Given the description of an element on the screen output the (x, y) to click on. 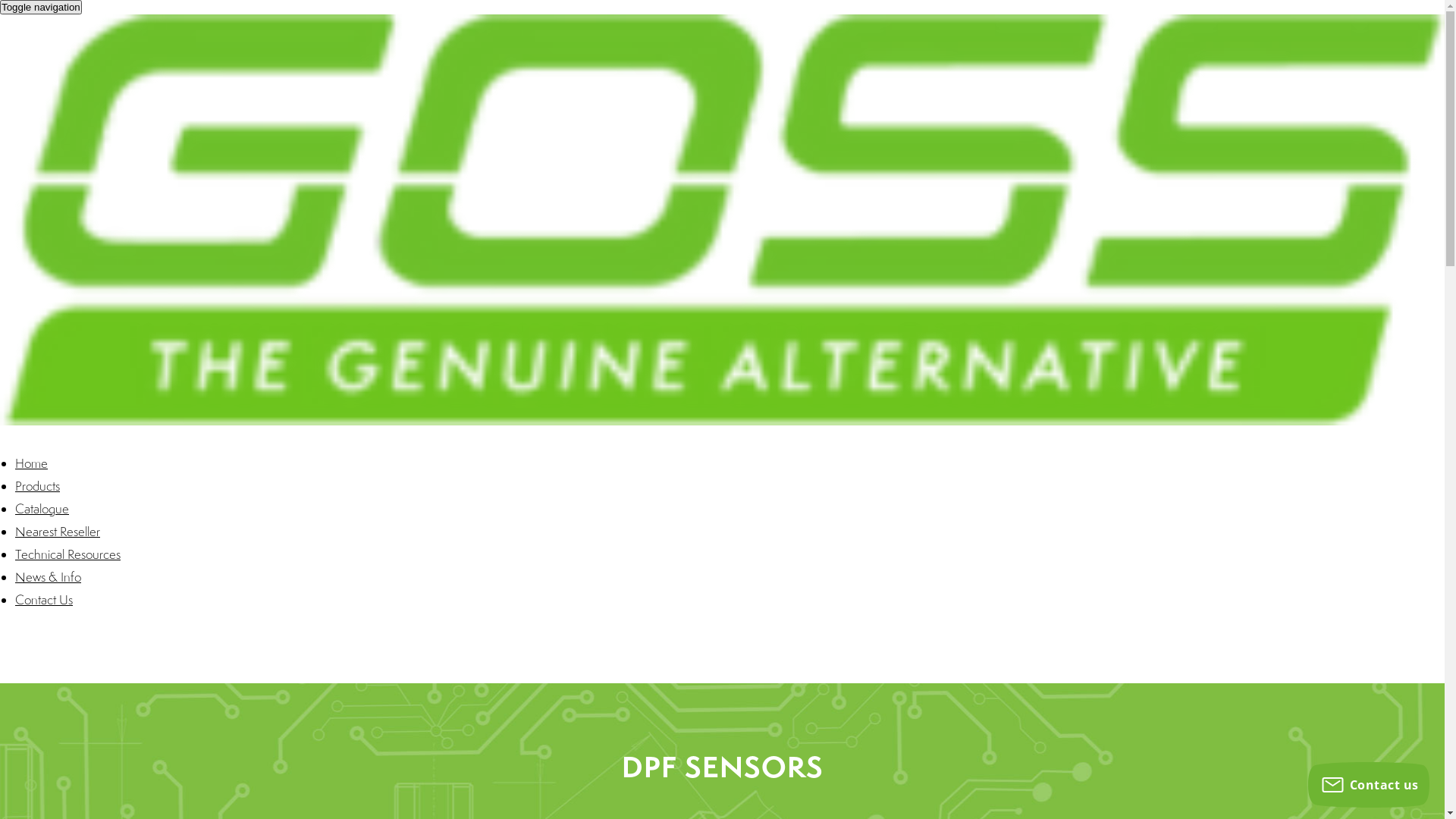
Contact us Element type: text (1368, 784)
Technical Resources Element type: text (67, 554)
News & Info Element type: text (48, 576)
Products Element type: text (37, 485)
Catalogue Element type: text (42, 508)
Contact Us Element type: text (43, 599)
Toggle navigation Element type: text (40, 7)
Nearest Reseller Element type: text (57, 531)
Home Element type: text (31, 463)
